Given the description of an element on the screen output the (x, y) to click on. 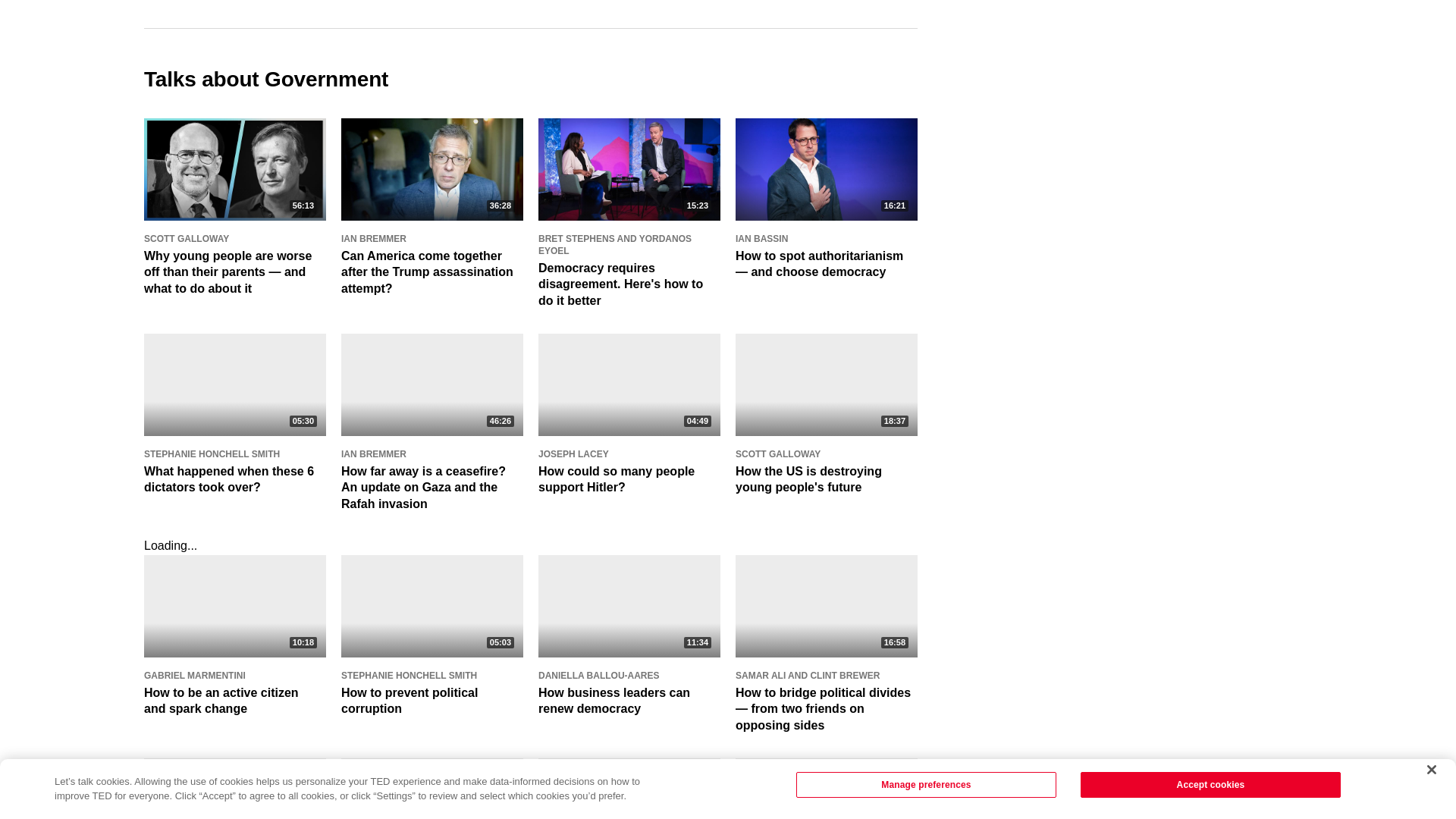
3rd party ad content (1197, 48)
